Given the description of an element on the screen output the (x, y) to click on. 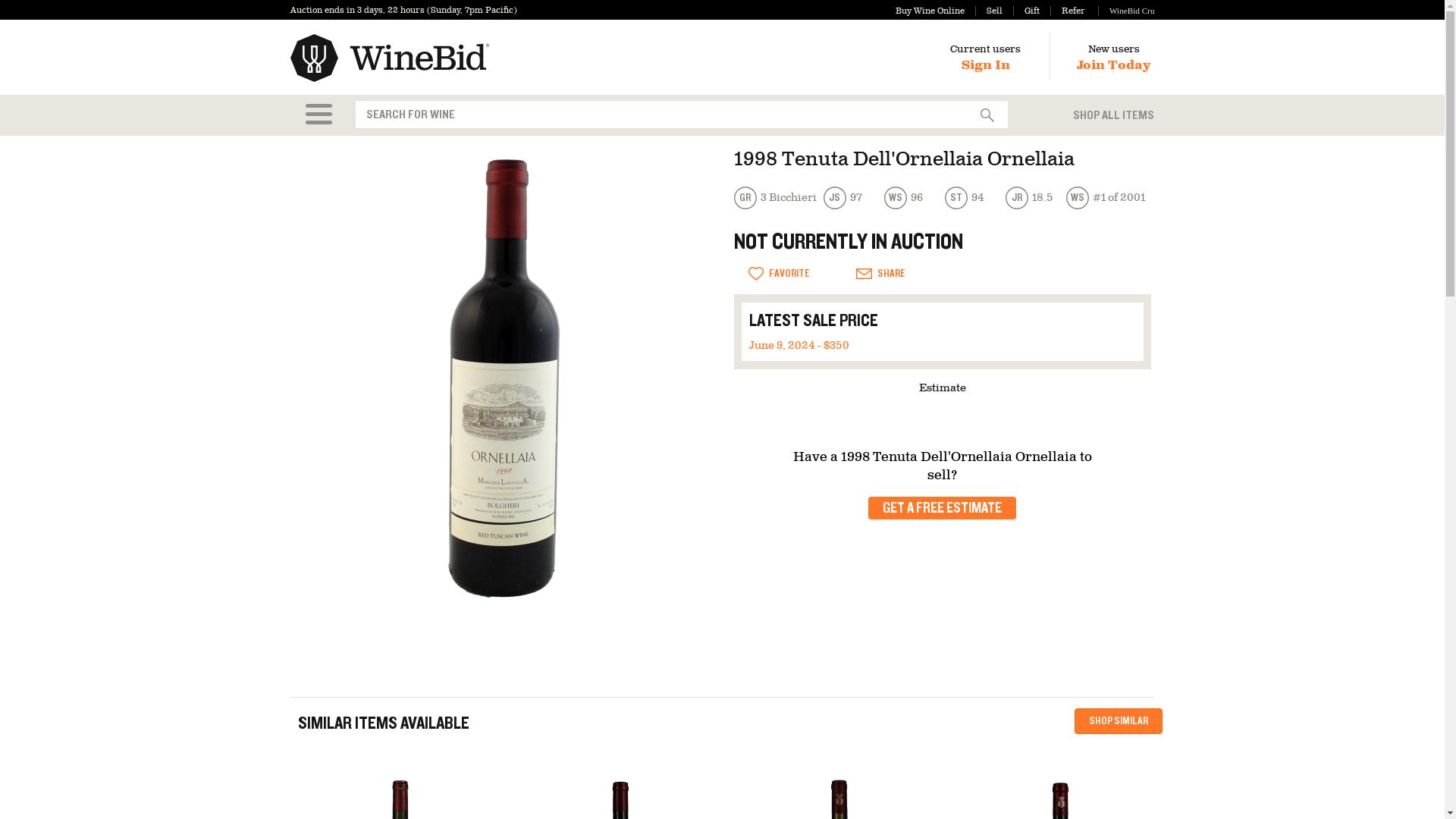
Wine Spectator Top 100 (1107, 197)
Sell (989, 10)
WineBid Cru (1125, 10)
Gift (1026, 10)
Refer (1066, 10)
Buy Wine Online (929, 10)
Sign In (985, 64)
Gambero Rosso (777, 197)
Join Today (1113, 64)
